Given the description of an element on the screen output the (x, y) to click on. 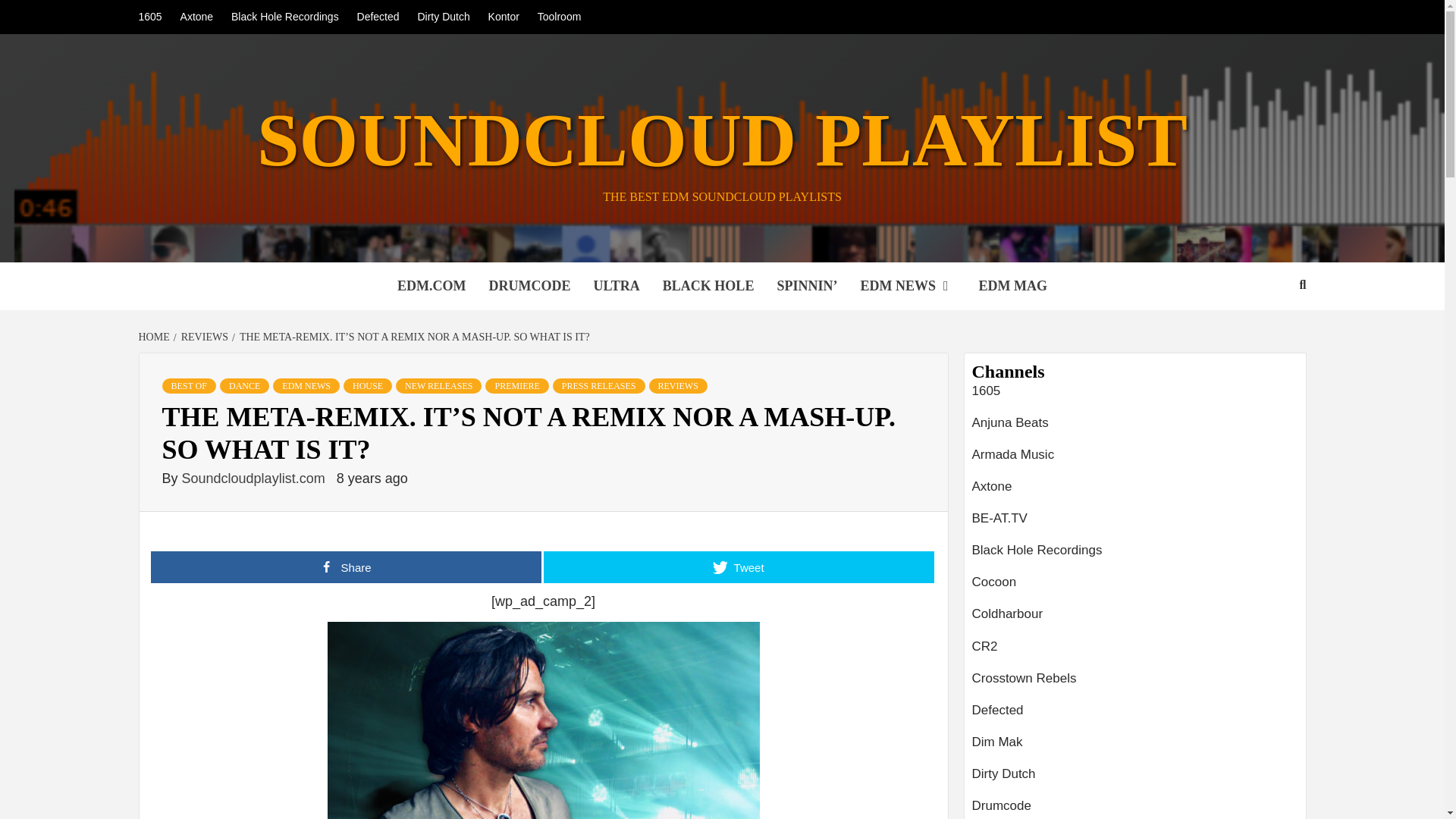
Toolroom (559, 17)
Black Hole Recordings (285, 17)
SOUNDCLOUD PLAYLIST (722, 139)
EDM MAG (1013, 286)
Dirty Dutch (443, 17)
EDM NEWS (306, 385)
Share (344, 567)
Tweet (738, 567)
REVIEWS (202, 337)
DRUMCODE (529, 286)
NEW RELEASES (438, 385)
ULTRA (616, 286)
REVIEWS (678, 385)
BLACK HOLE (707, 286)
DANCE (244, 385)
